Given the description of an element on the screen output the (x, y) to click on. 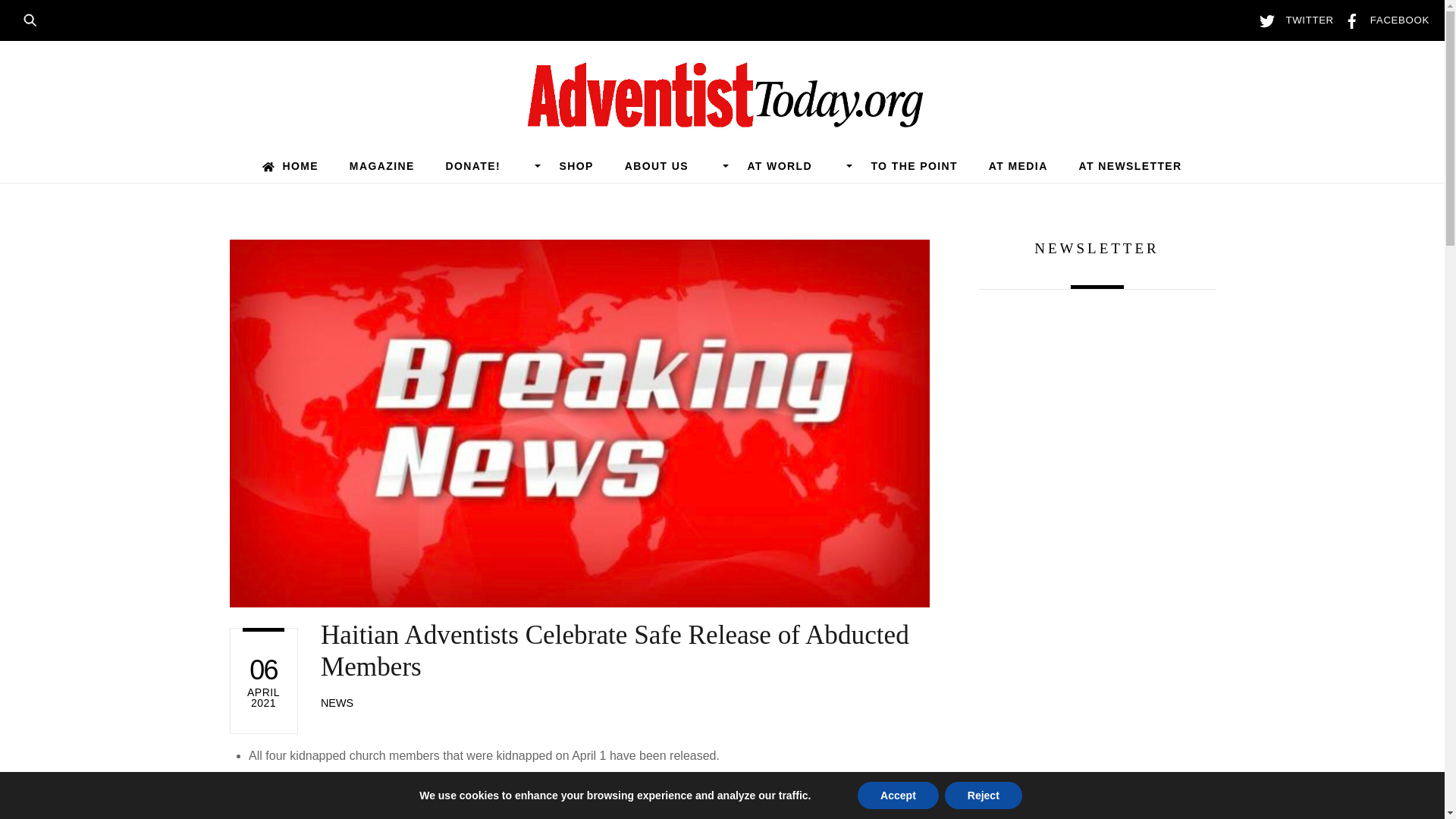
MAGAZINE (381, 165)
DONATE! (486, 165)
HOME (290, 165)
NEWS (336, 702)
AT MEDIA (1017, 165)
ABOUT US (669, 165)
AT NEWSLETTER (1129, 165)
AT WORLD (793, 165)
